Given the description of an element on the screen output the (x, y) to click on. 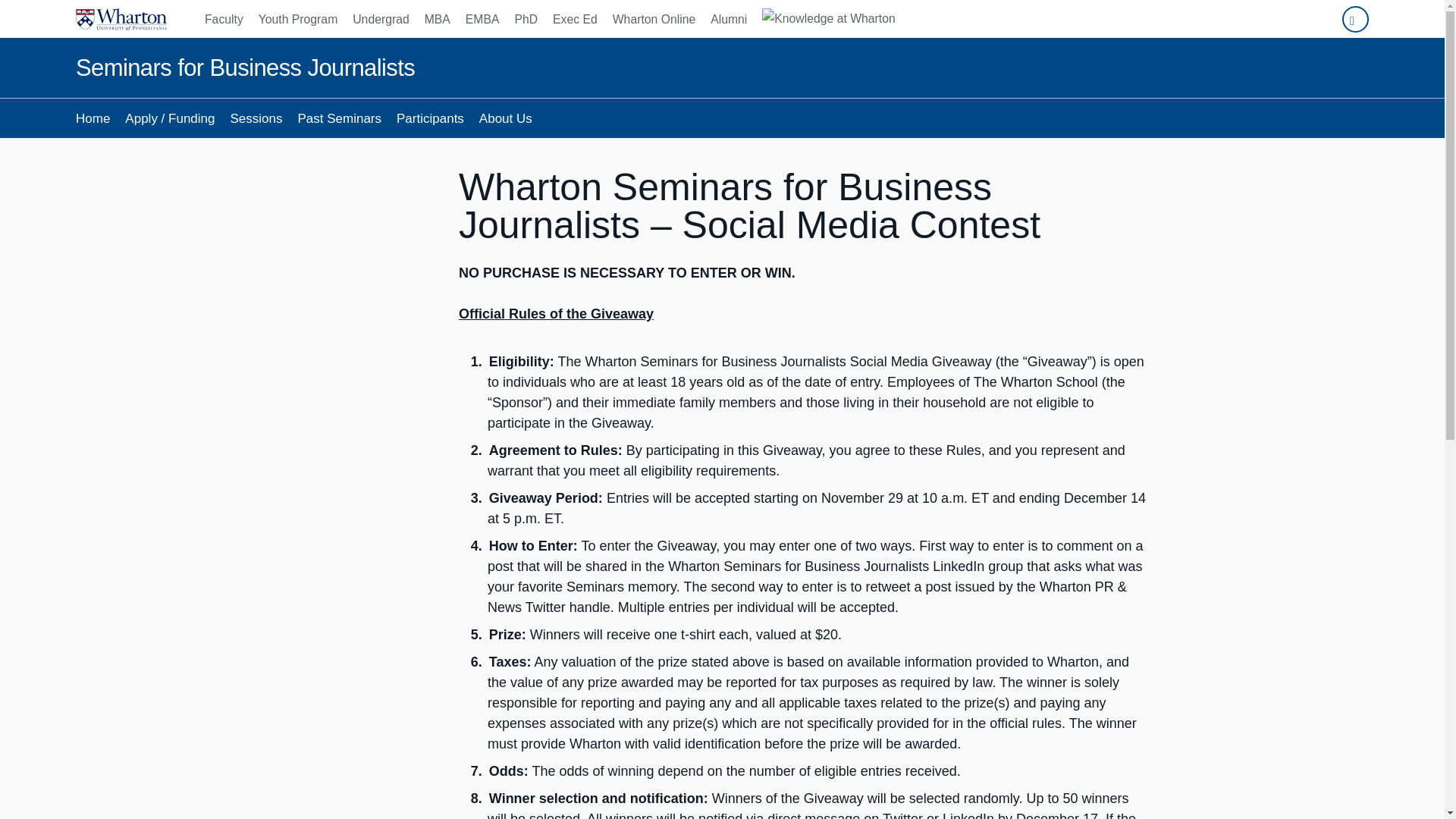
Home (92, 117)
Seminars for Business Journalists (244, 67)
MBA (437, 18)
PhD (525, 18)
Search Wharton (1355, 18)
Exec Ed (574, 18)
EMBA (482, 18)
Participants (429, 117)
Wharton Online (654, 18)
Wharton Home (121, 18)
